Given the description of an element on the screen output the (x, y) to click on. 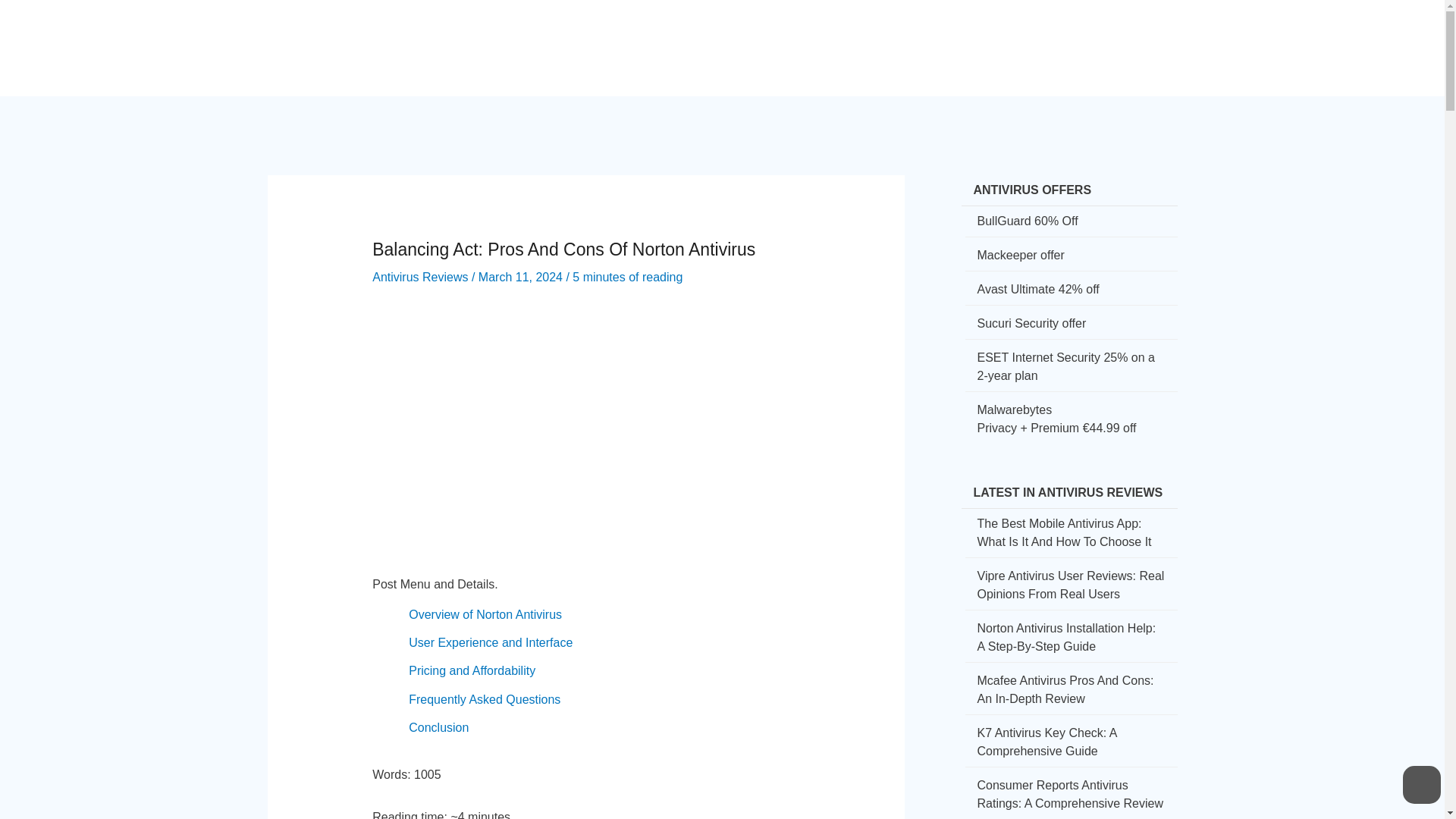
Antivirus Reviews (419, 277)
Frequently Asked Questions (484, 698)
Finances (929, 35)
User Experience and Interface (490, 642)
Overview of Norton Antivirus (485, 614)
Cyber Security (713, 35)
Misc (1122, 35)
Conclusion (438, 727)
Social (863, 35)
Gaming (999, 35)
